Given the description of an element on the screen output the (x, y) to click on. 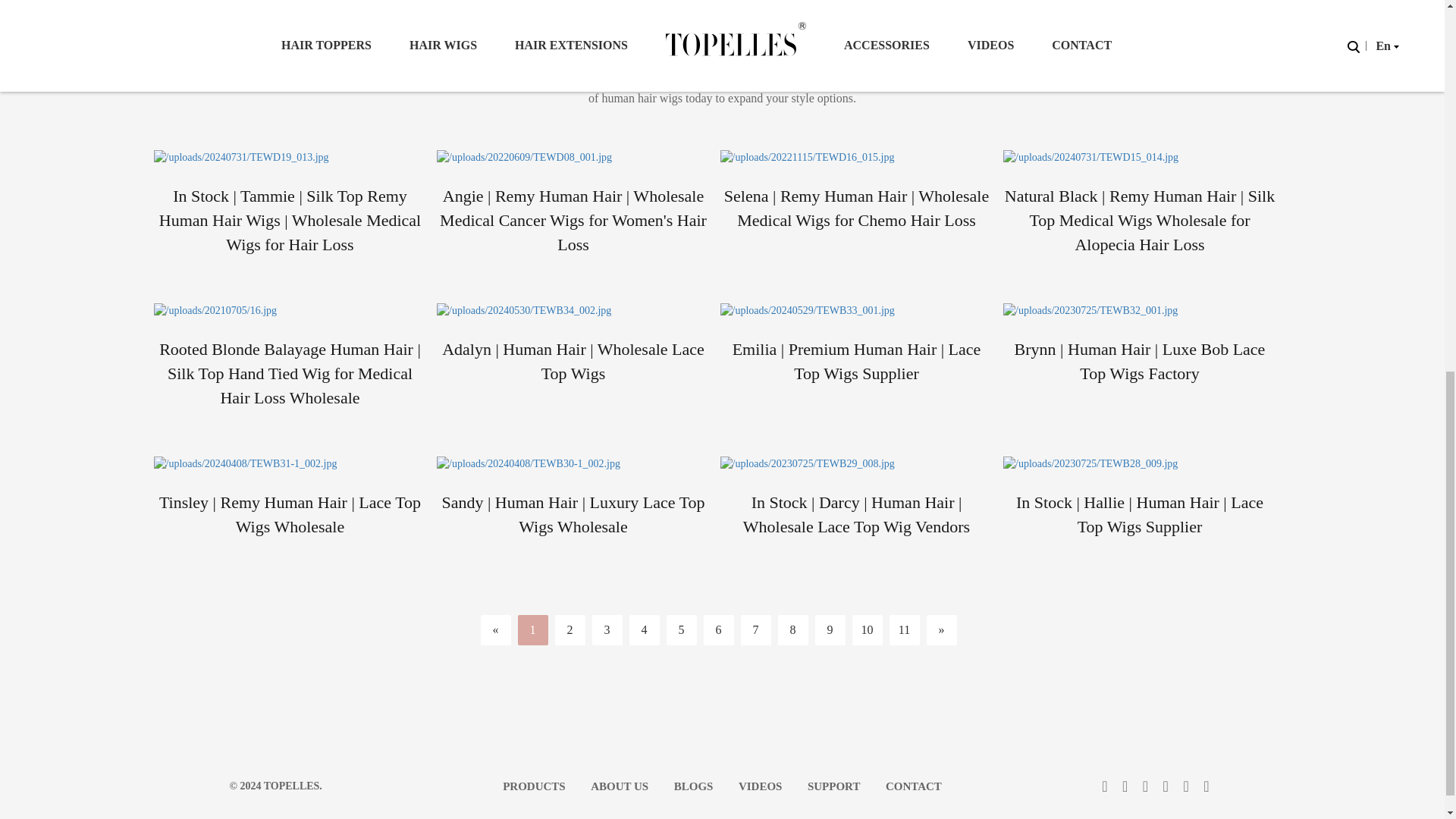
Search (958, 15)
